Given the description of an element on the screen output the (x, y) to click on. 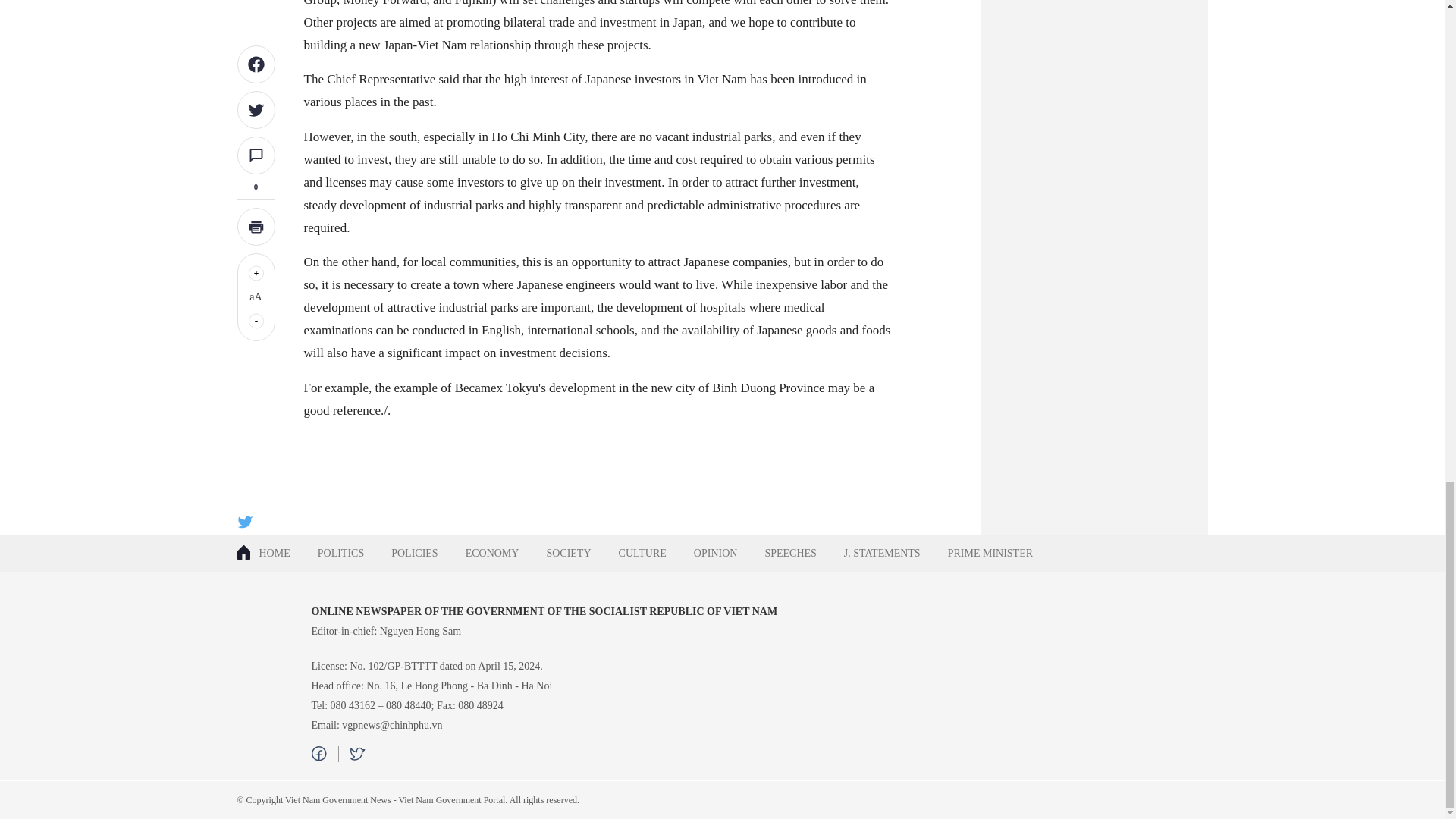
CULTURE (642, 552)
PRIME MINISTER (990, 552)
POLITICS (340, 552)
OPINION (715, 552)
POLICIES (414, 552)
J. STATEMENTS (881, 552)
SOCIETY (568, 552)
ECONOMY (491, 552)
SPEECHES (790, 552)
HOME (268, 552)
